Given the description of an element on the screen output the (x, y) to click on. 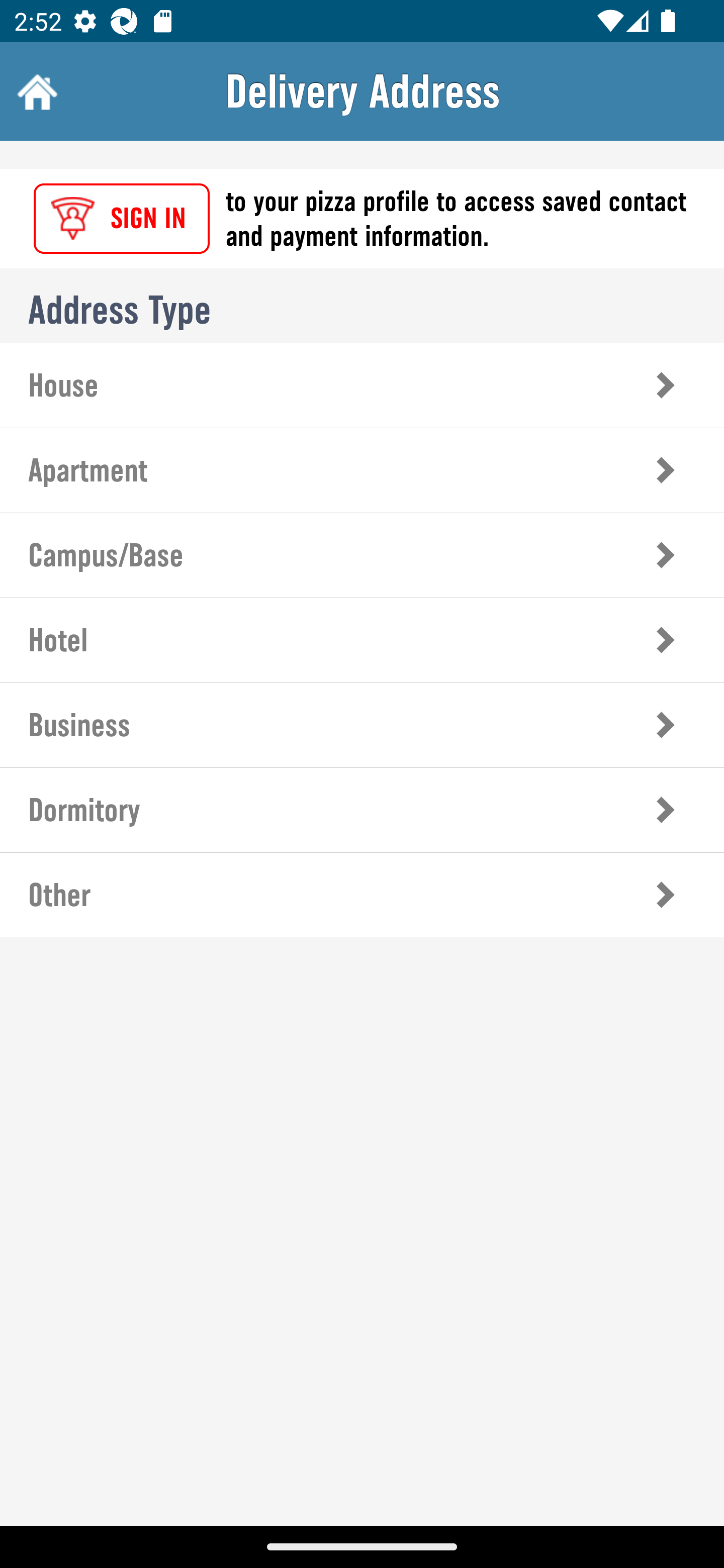
Home (35, 91)
SIGN IN (121, 218)
1 of 7, House House Address Details (362, 385)
2 of 7, Apartment Apartment Address Details (362, 470)
3 of 7, Campus/Base Campus/Base Address Details (362, 554)
4 of 7, Hotel Hotel Address Details (362, 639)
5 of 7, Business Business Address Details (362, 724)
6 of 7, Dormitory Dormitory Address Details (362, 810)
7 of 7, Other Other Address Details (362, 894)
